Given the description of an element on the screen output the (x, y) to click on. 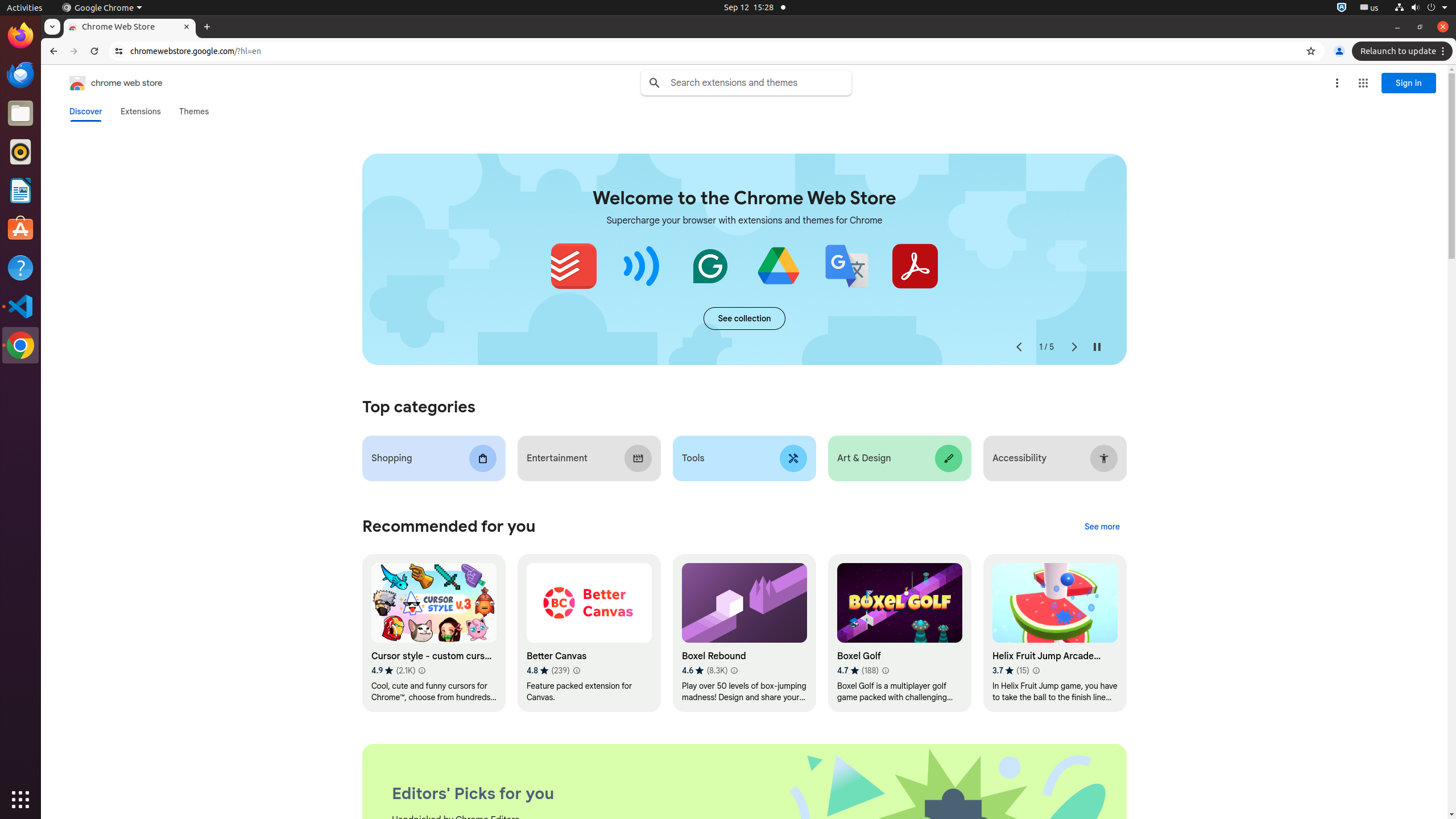
:1.21/StatusNotifierItem Element type: menu (1369, 7)
Entertainment Element type: link (588, 458)
Ubuntu Software Element type: push-button (20, 229)
Cursor style - custom cursor for your browser Element type: link (433, 632)
Google Translate Element type: link (846, 266)
